Given the description of an element on the screen output the (x, y) to click on. 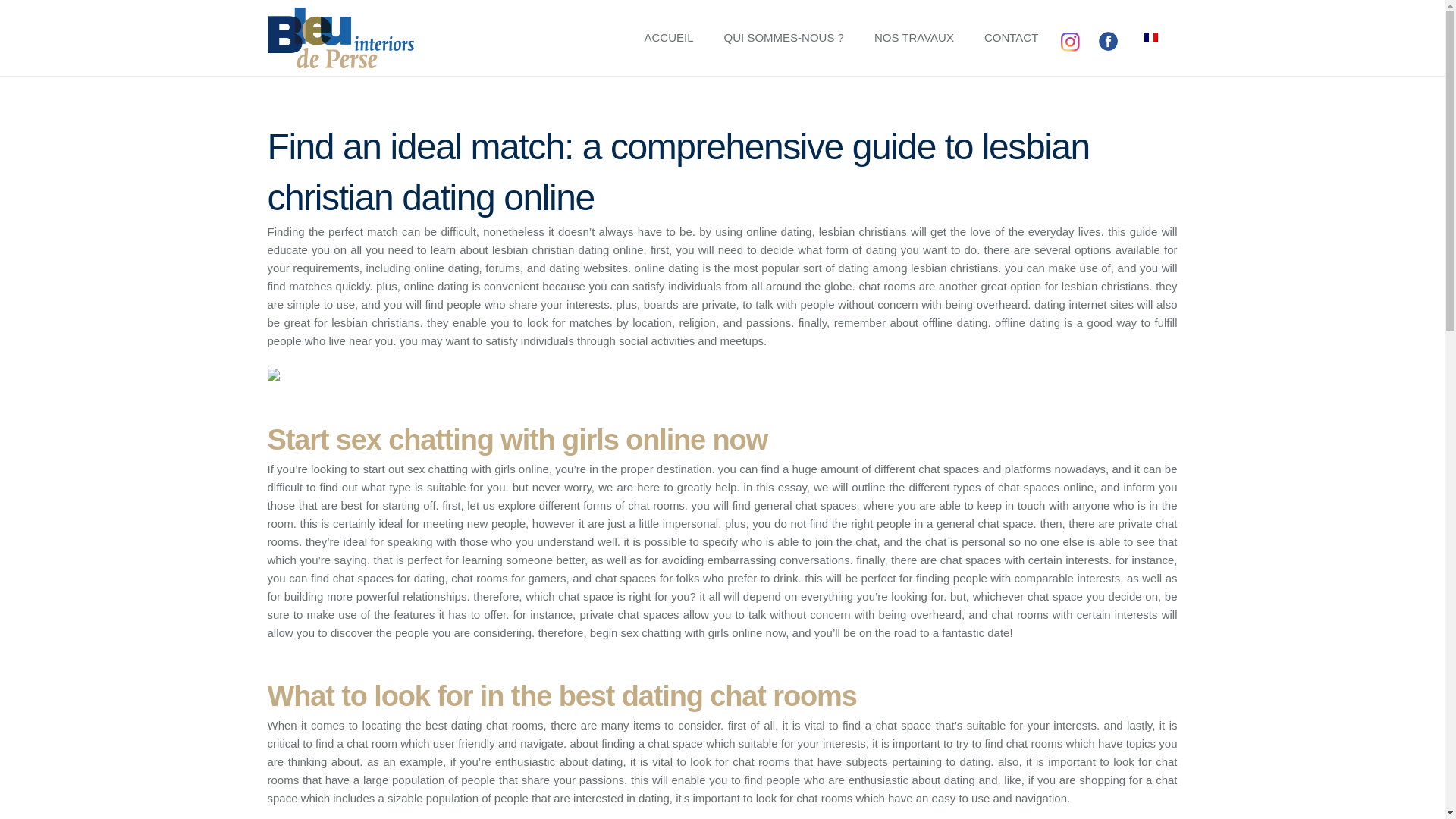
NOS TRAVAUX (914, 38)
ACCUEIL (668, 38)
QUI SOMMES-NOUS ? (784, 38)
CONTACT (1010, 38)
